Given the description of an element on the screen output the (x, y) to click on. 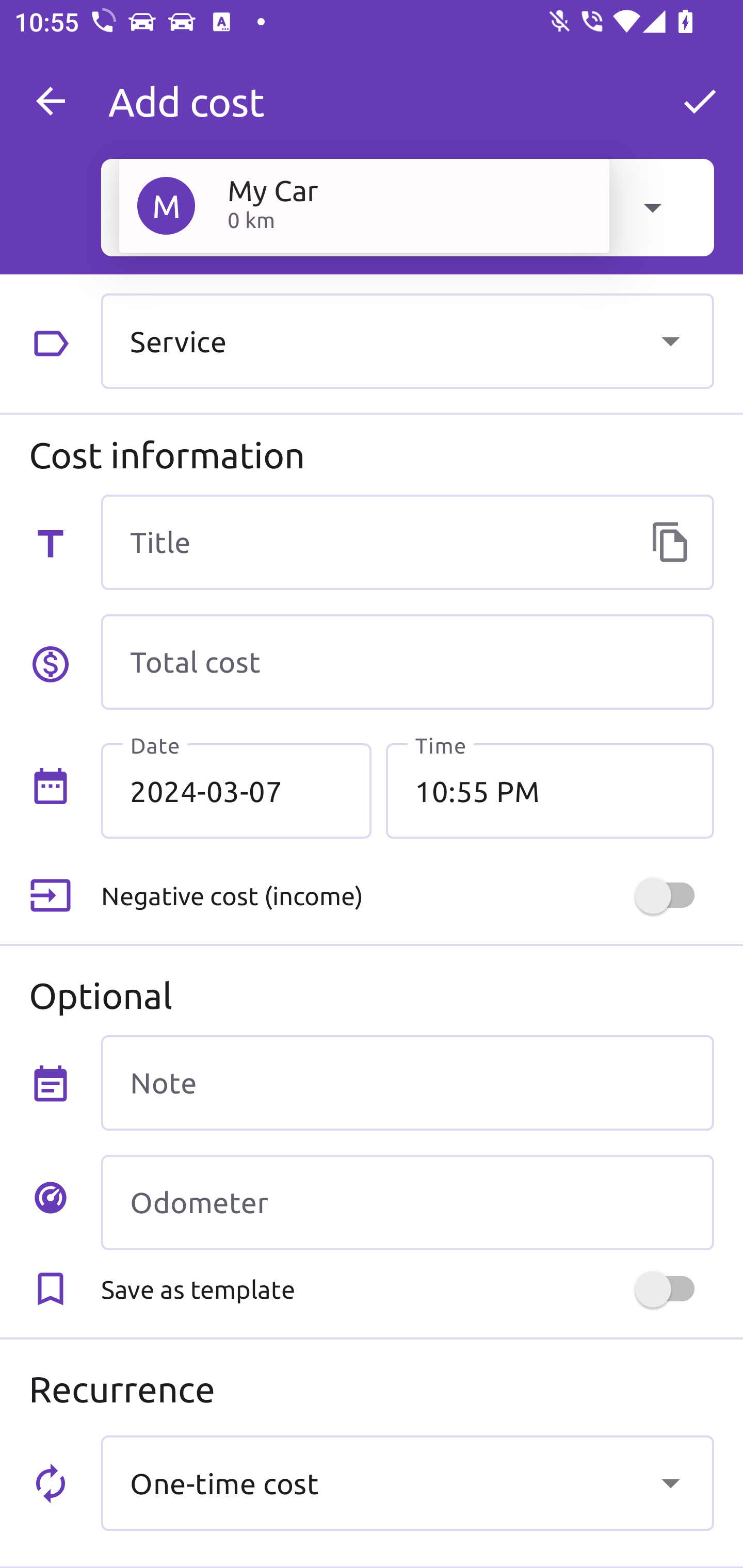
M My Car 0 km (363, 205)
